Given the description of an element on the screen output the (x, y) to click on. 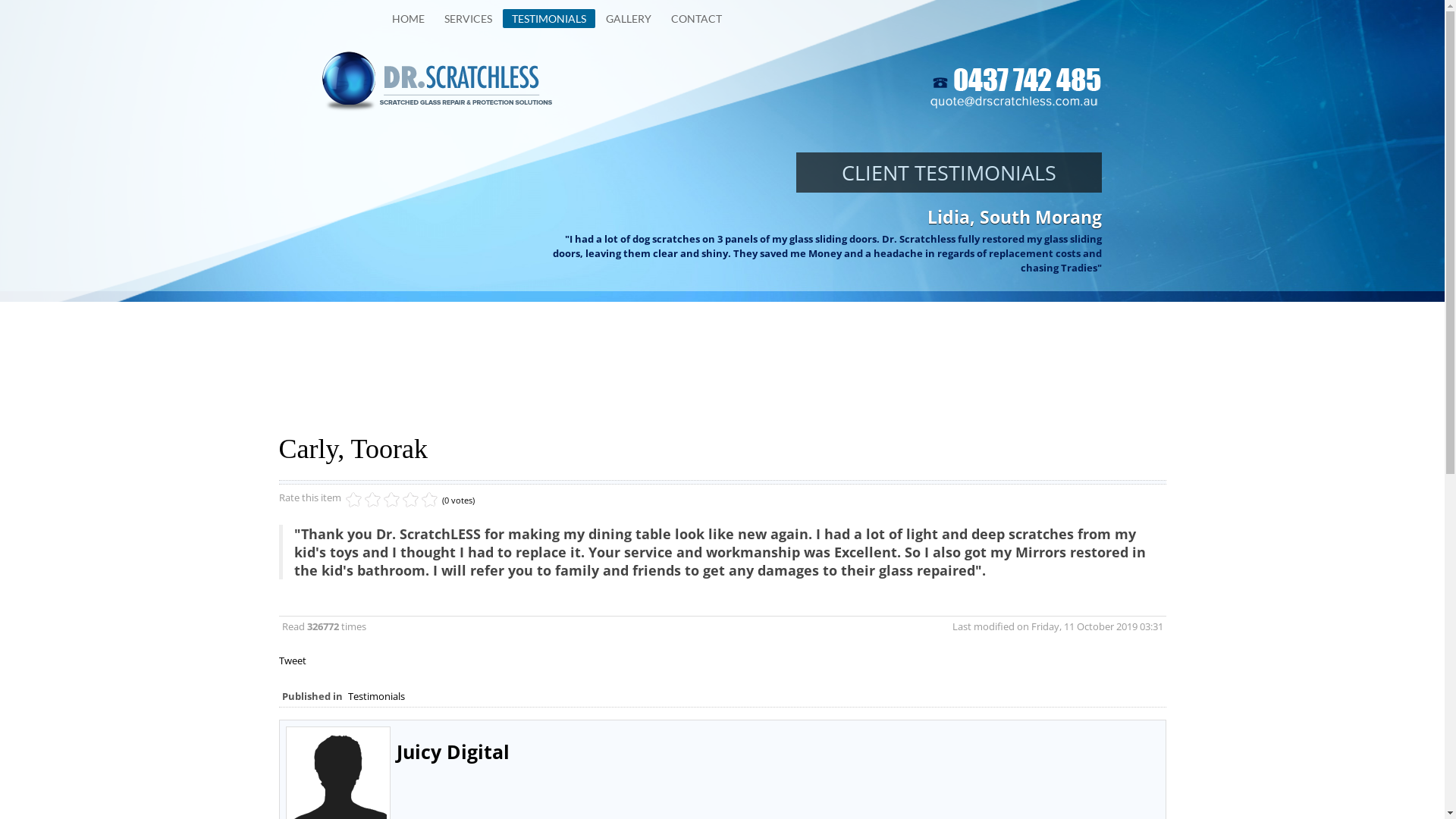
2 Element type: text (363, 499)
Click to return to Homepage of Your Website Element type: hover (437, 80)
GALLERY Element type: text (627, 18)
Testimonials Element type: text (375, 695)
Tweet Element type: text (292, 660)
SERVICES Element type: text (468, 18)
5 Element type: text (391, 499)
4 Element type: text (382, 499)
Juicy Digital Element type: text (451, 751)
3 Element type: text (372, 499)
TESTIMONIALS Element type: text (548, 18)
HOME Element type: text (407, 18)
CONTACT Element type: text (695, 18)
1 Element type: text (353, 499)
